Given the description of an element on the screen output the (x, y) to click on. 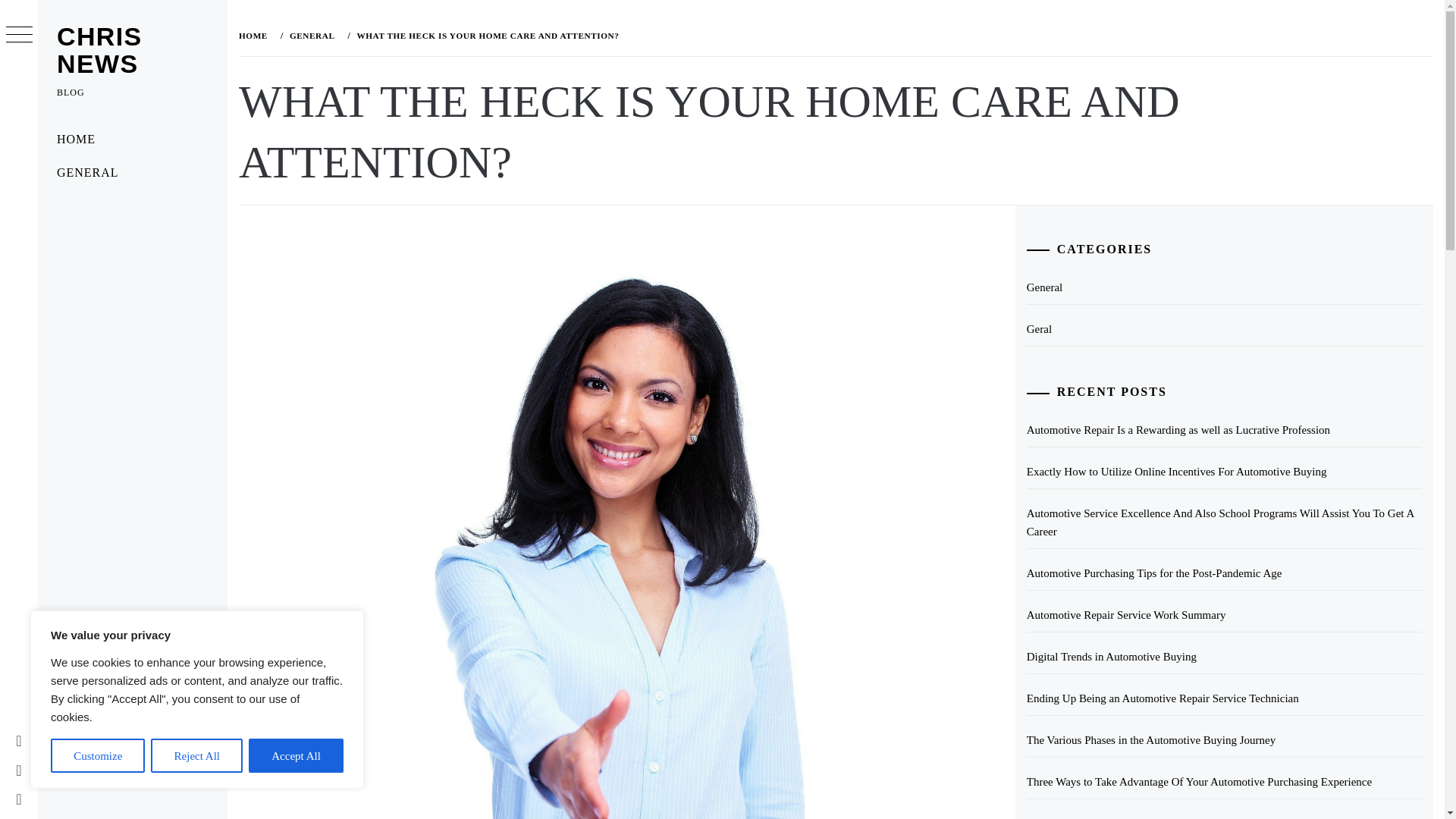
GENERAL (310, 35)
Reject All (197, 755)
HOME (255, 35)
HOME (132, 139)
GENERAL (132, 172)
WHAT THE HECK IS YOUR HOME CARE AND ATTENTION? (485, 35)
Customize (97, 755)
Accept All (295, 755)
CHRIS NEWS (99, 49)
